Given the description of an element on the screen output the (x, y) to click on. 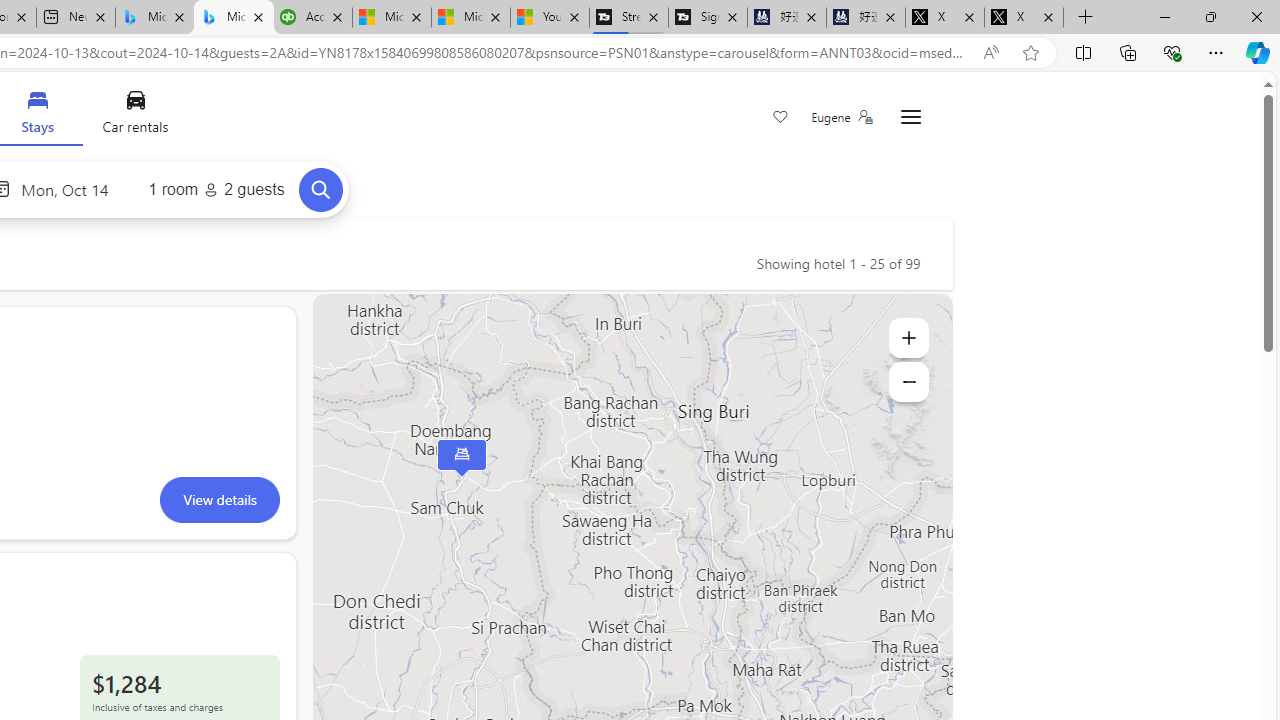
Add this page to favorites (Ctrl+D) (1030, 53)
View details (219, 499)
1 room2 guests (216, 190)
Settings (910, 118)
Search (320, 189)
Read aloud this page (Ctrl+Shift+U) (991, 53)
Browser essentials (1171, 52)
Split screen (1083, 52)
Zoom out (908, 381)
Minimize (1164, 16)
X (1023, 17)
Streaming Coverage | T3 (629, 17)
